Given the description of an element on the screen output the (x, y) to click on. 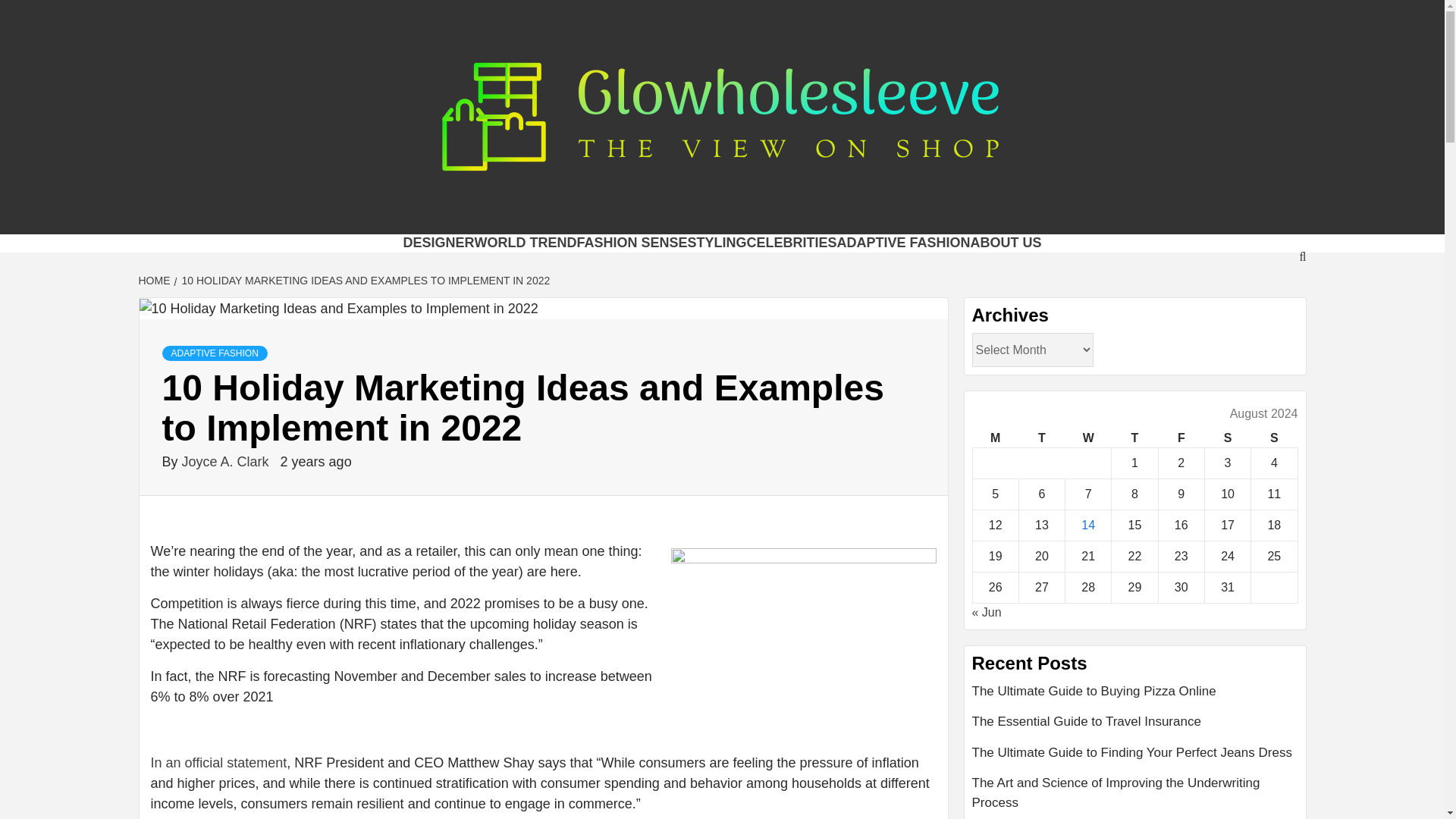
FASHION SENSE (631, 242)
ADAPTIVE FASHION (904, 242)
DESIGNER (438, 242)
Monday (994, 438)
CELEBRITIES (790, 242)
10 Holiday Marketing Ideas and Examples to Implement in 2022 (338, 308)
10 HOLIDAY MARKETING IDEAS AND EXAMPLES TO IMPLEMENT IN 2022 (364, 280)
Joyce A. Clark (227, 461)
GLOWHOLESLEEVE (514, 214)
STYLING (716, 242)
